Given the description of an element on the screen output the (x, y) to click on. 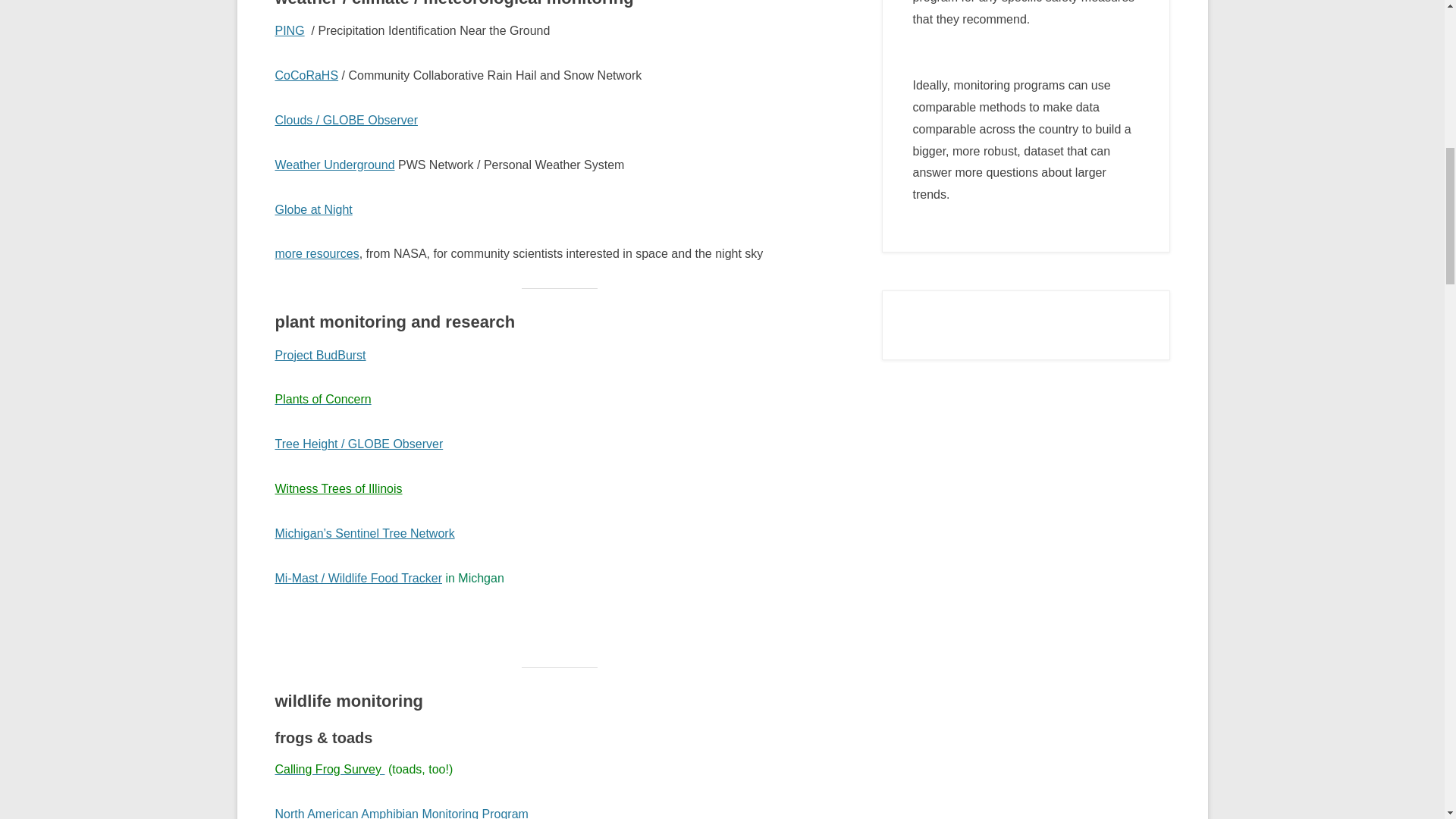
Weather Underground (334, 164)
North American Amphibian Monitoring Program (401, 813)
CoCoRaHS (306, 74)
Witness Trees of Illinois (338, 488)
Plants of Concern (323, 399)
Globe at Night (313, 209)
Project BudBurst (320, 354)
PING (289, 30)
Calling Frog Survey  (329, 768)
more resources (316, 253)
